Given the description of an element on the screen output the (x, y) to click on. 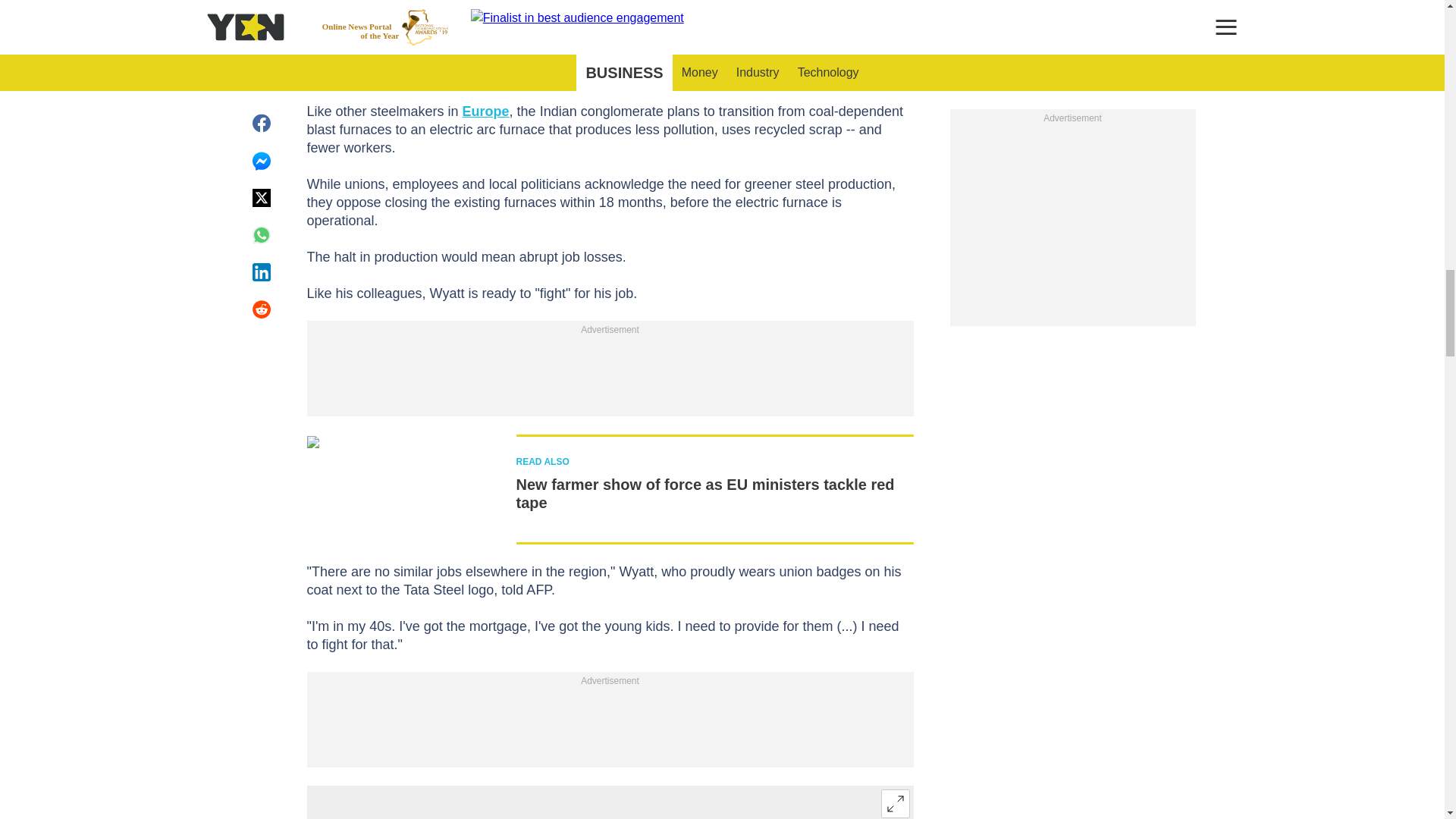
Expand image (895, 803)
